Given the description of an element on the screen output the (x, y) to click on. 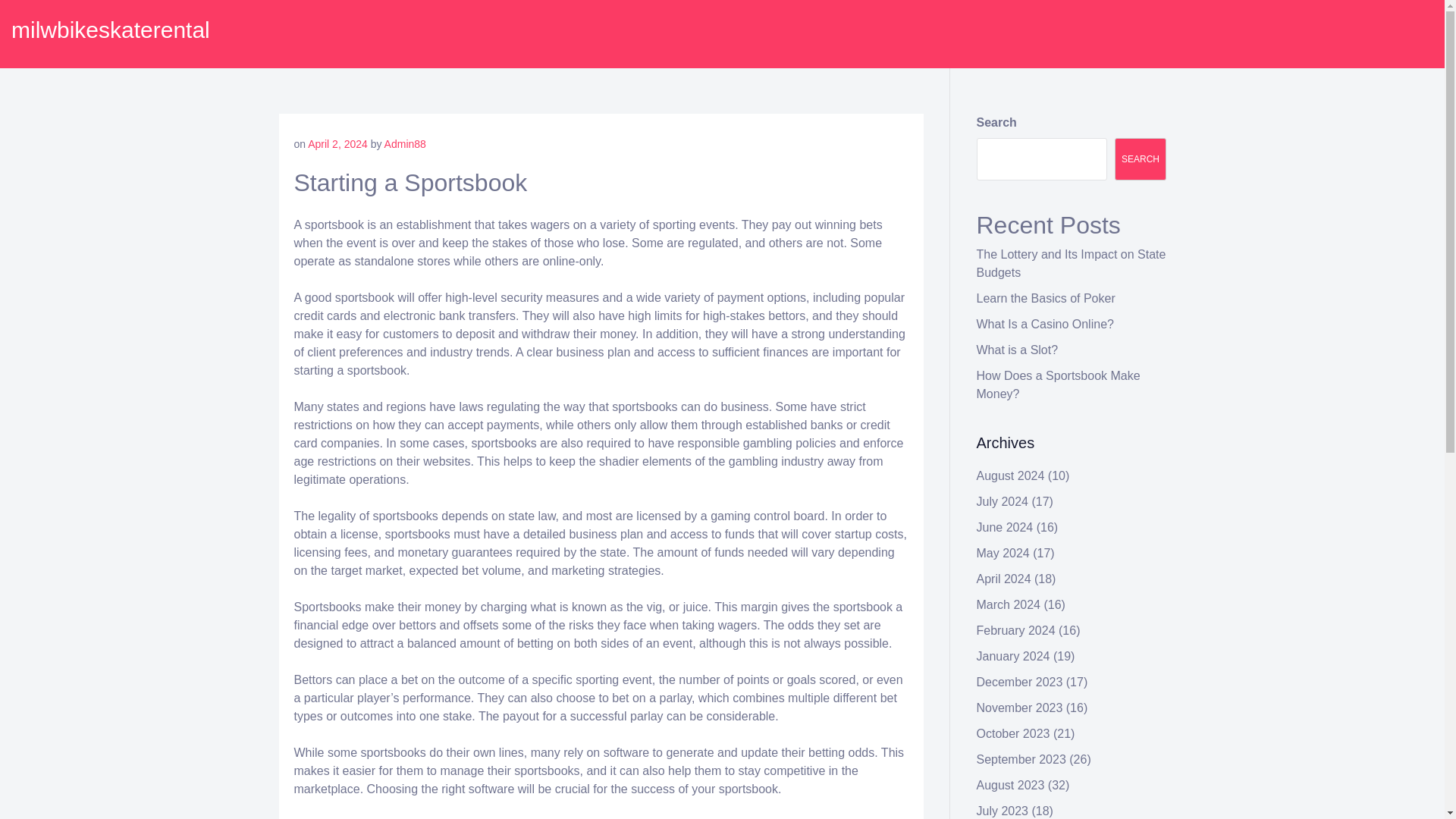
December 2023 (1019, 681)
June 2024 (1004, 526)
What is a Slot? (1017, 349)
milwbikeskaterental (110, 29)
How Does a Sportsbook Make Money? (1058, 384)
April 2024 (1003, 578)
January 2024 (1012, 656)
April 2, 2024 (337, 143)
March 2024 (1008, 604)
The Lottery and Its Impact on State Budgets (1071, 263)
